Given the description of an element on the screen output the (x, y) to click on. 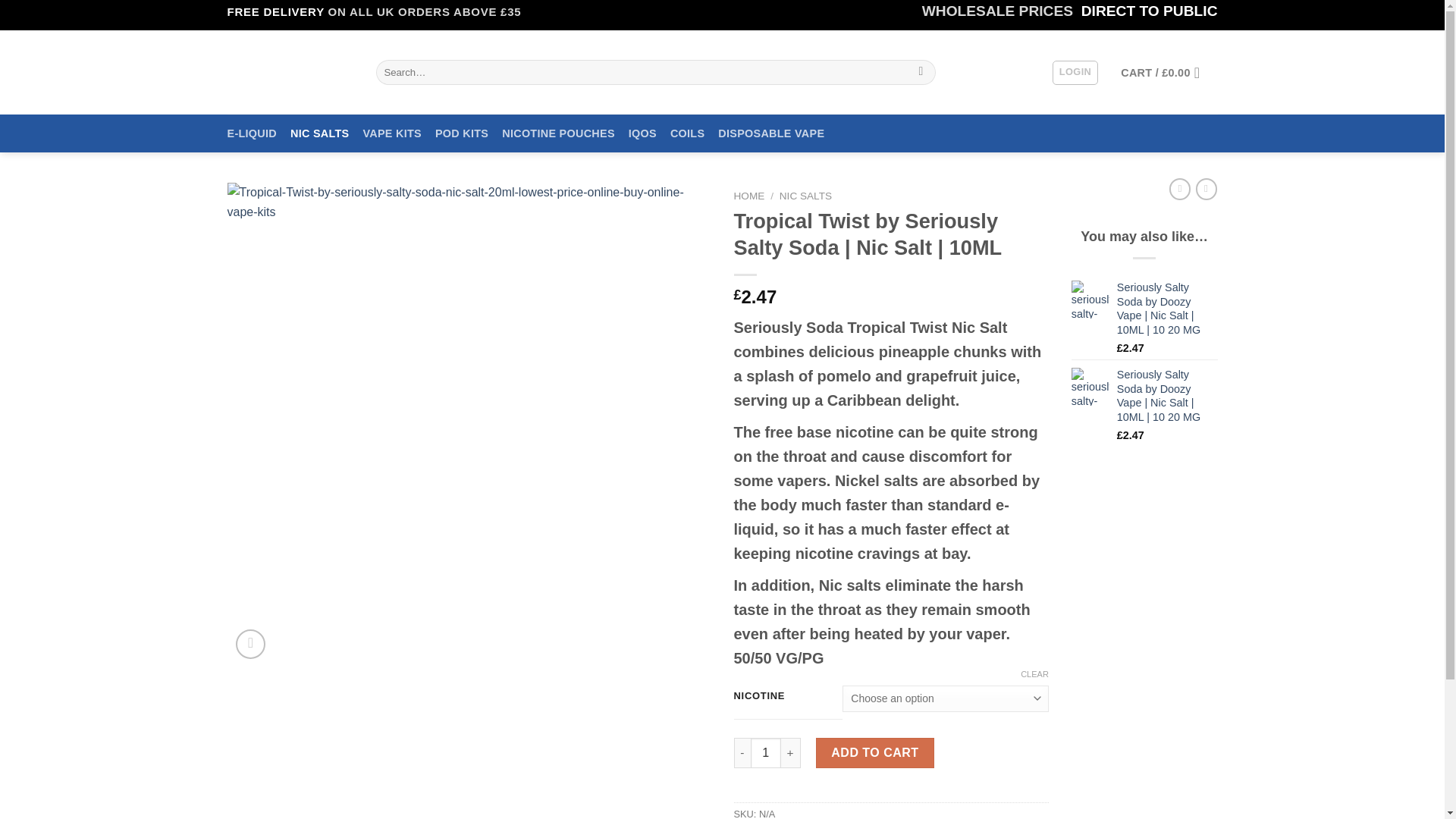
DISPOSABLE VAPE (770, 133)
VAPE KITS (392, 133)
HOME (749, 195)
Cart (1164, 72)
- (742, 752)
NIC SALTS (804, 195)
Qty (765, 752)
E-LIQUID (251, 133)
Zoom (249, 644)
NIC SALTS (319, 133)
ADD TO CART (874, 752)
POD KITS (461, 133)
LOGIN (1074, 72)
Search (920, 72)
